Given the description of an element on the screen output the (x, y) to click on. 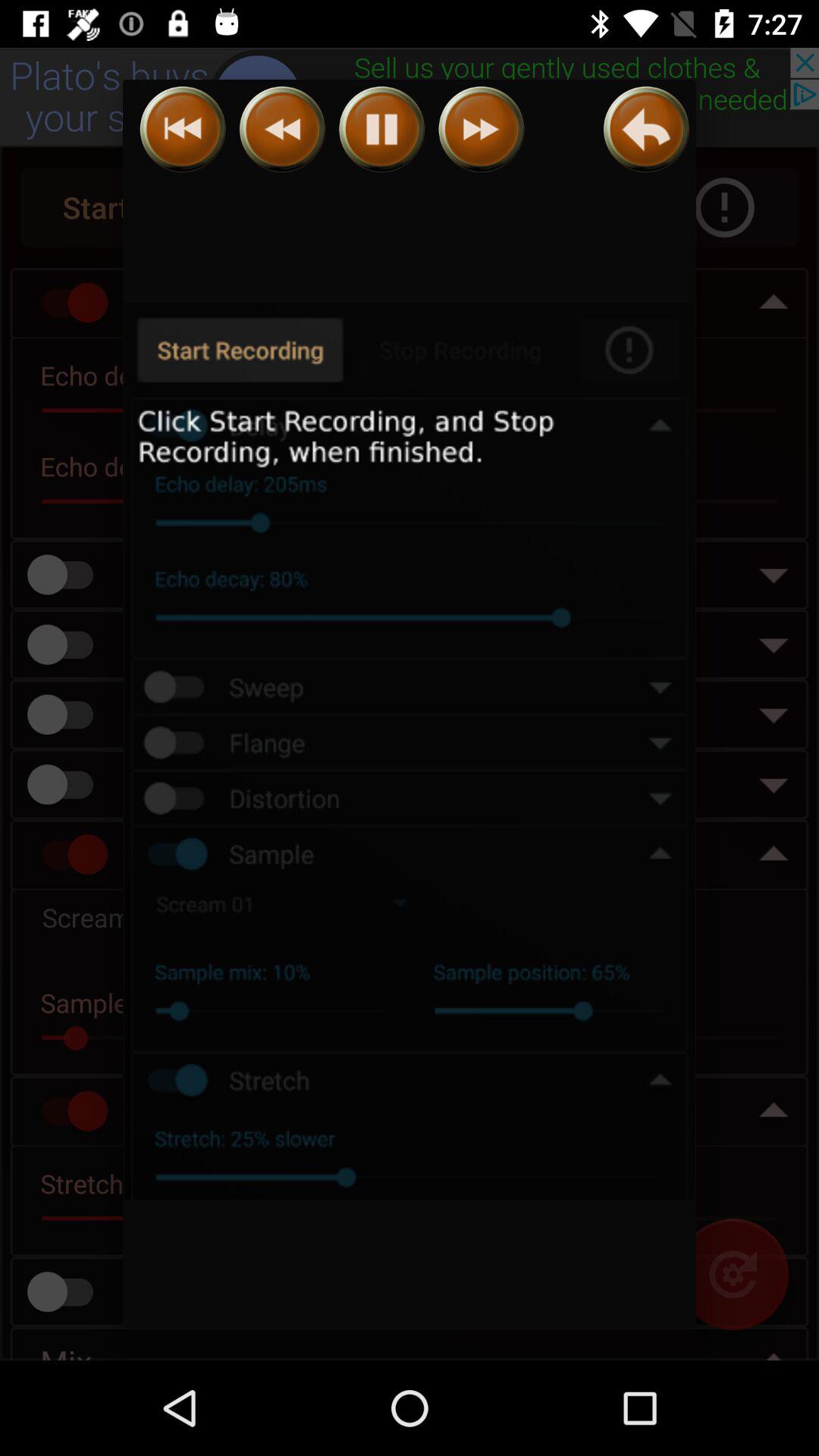
fast forward (481, 129)
